Given the description of an element on the screen output the (x, y) to click on. 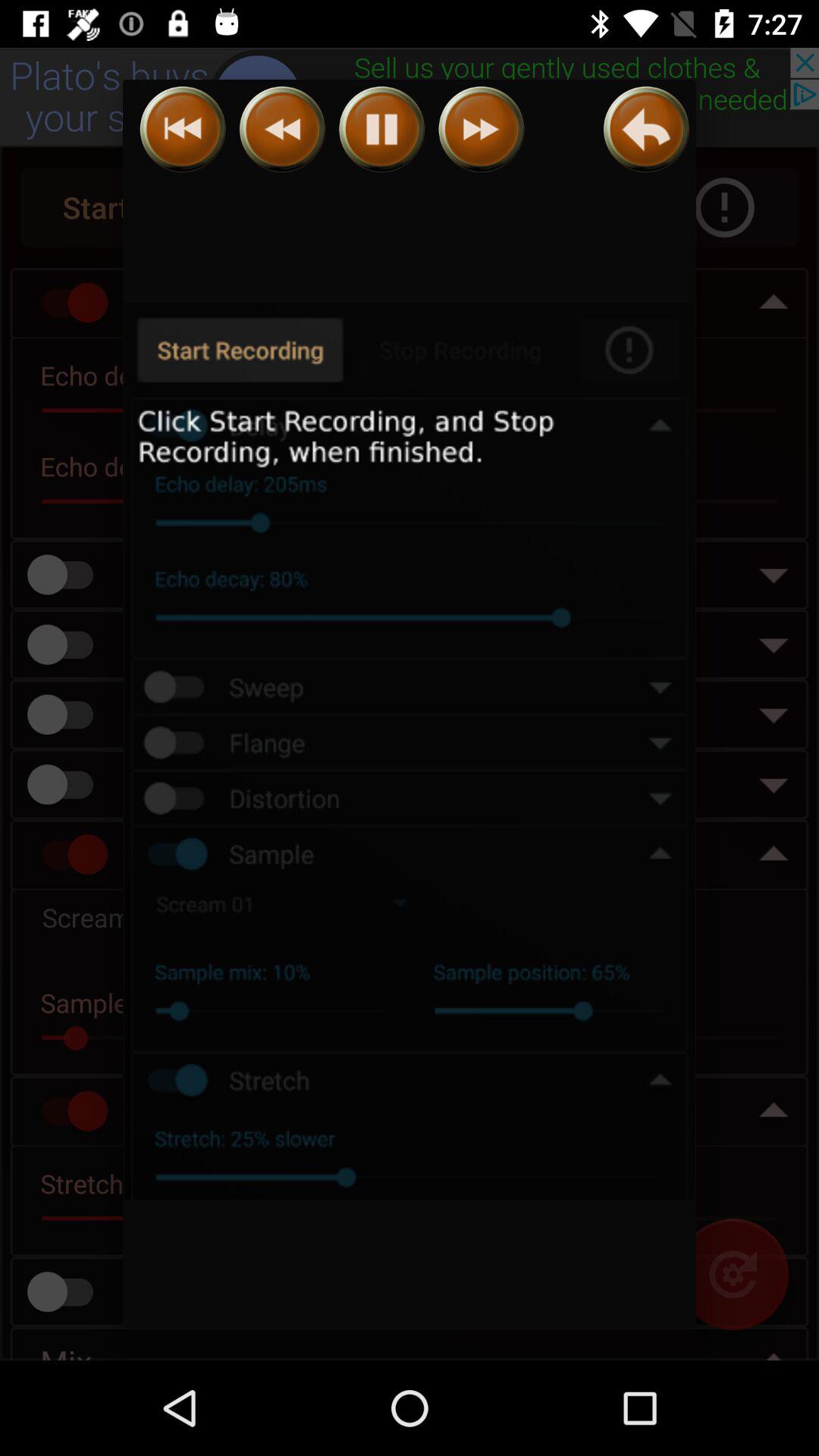
fast forward (481, 129)
